Given the description of an element on the screen output the (x, y) to click on. 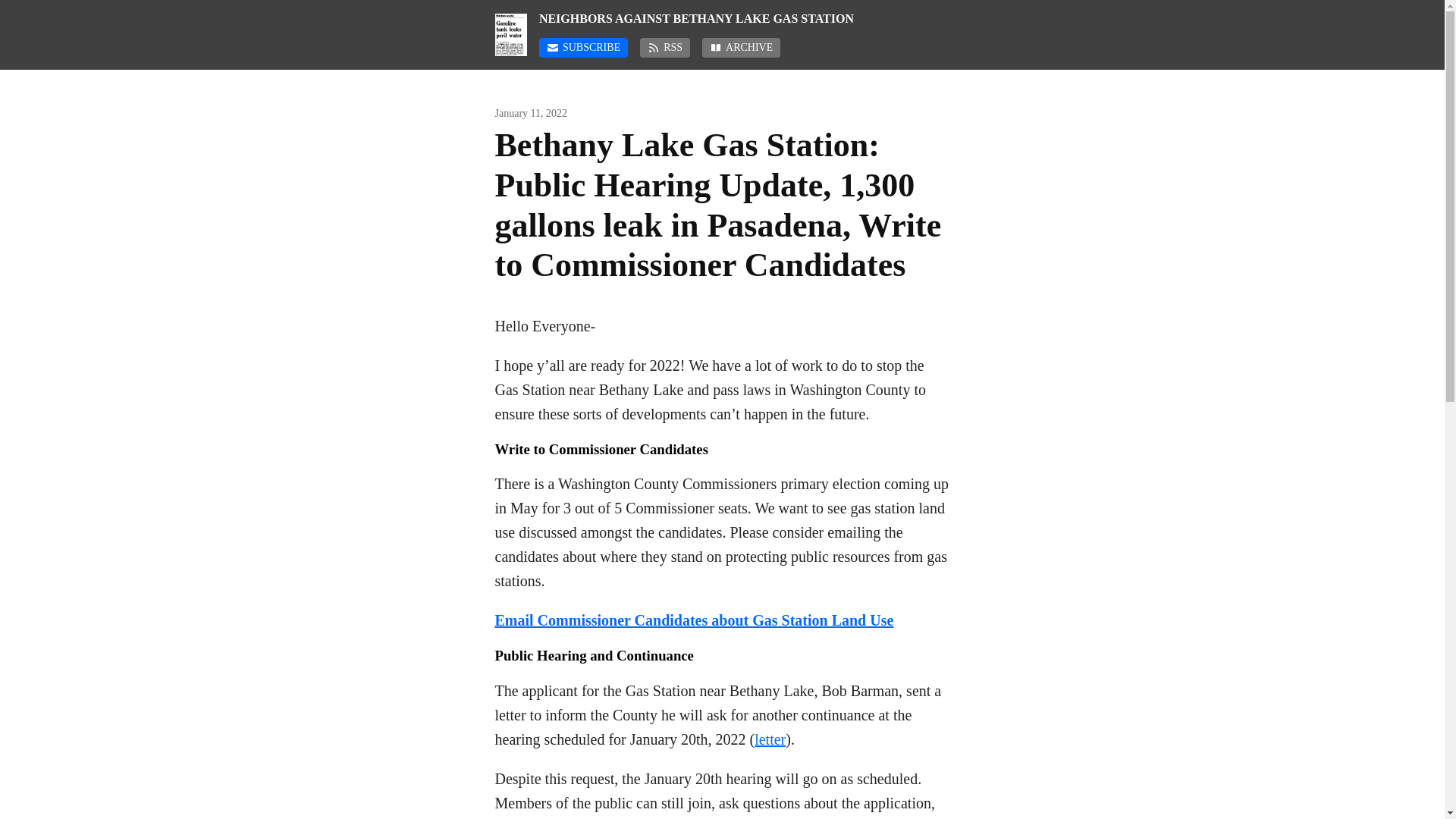
ARCHIVE (740, 47)
NEIGHBORS AGAINST BETHANY LAKE GAS STATION (744, 18)
letter (770, 739)
SUBSCRIBE (582, 47)
Email Commissioner Candidates about Gas Station Land Use (694, 619)
RSS (665, 47)
